Given the description of an element on the screen output the (x, y) to click on. 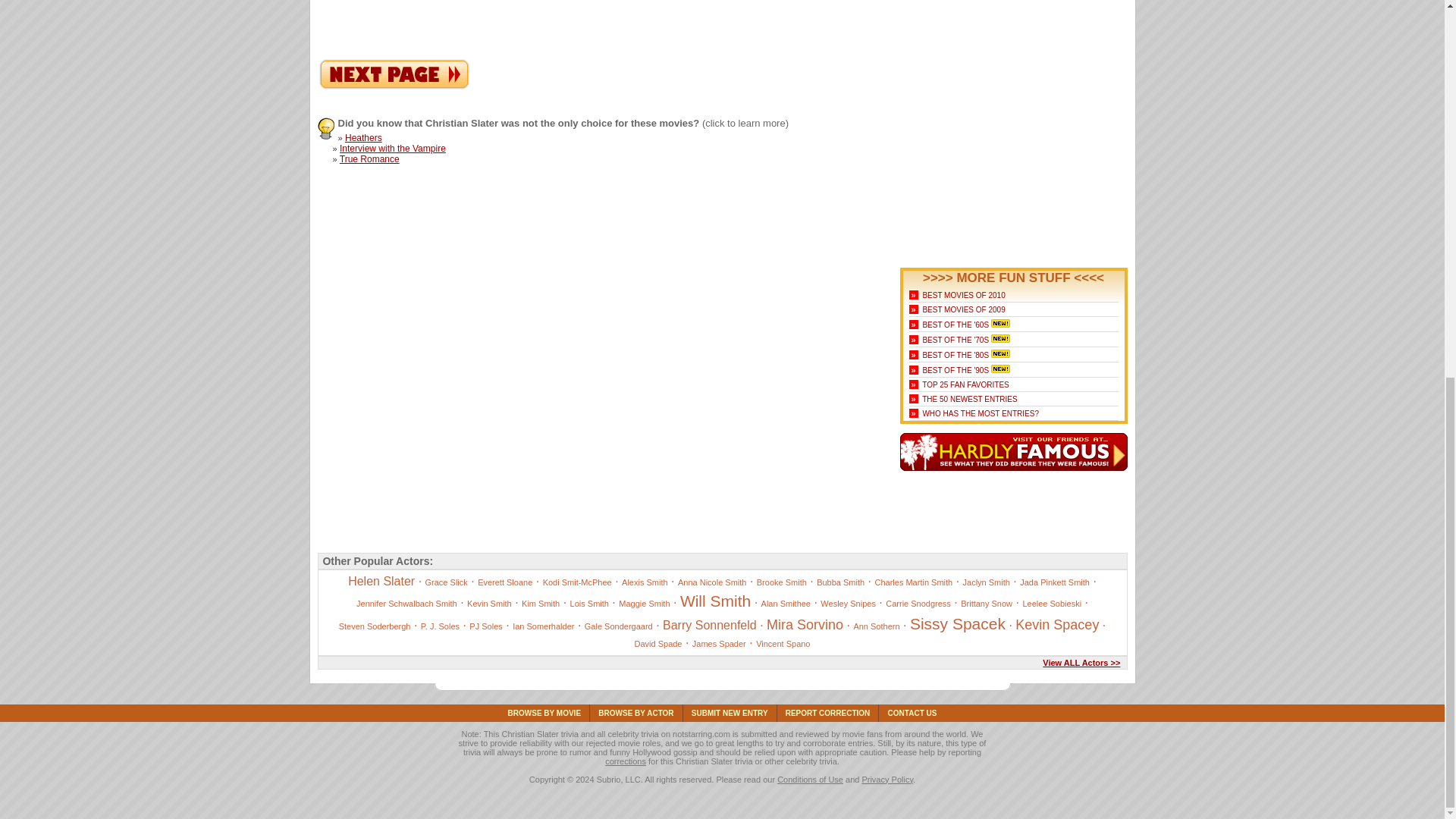
Helen Slater (380, 581)
Bubba Smith (840, 582)
Everett Sloane (504, 582)
Alexis Smith (644, 582)
THE 50 NEWEST ENTRIES (968, 398)
Interview with the Vampire (392, 148)
BEST OF THE '70S (954, 339)
Helen Slater (393, 85)
BEST OF THE '90S (954, 370)
True Romance (368, 158)
